Given the description of an element on the screen output the (x, y) to click on. 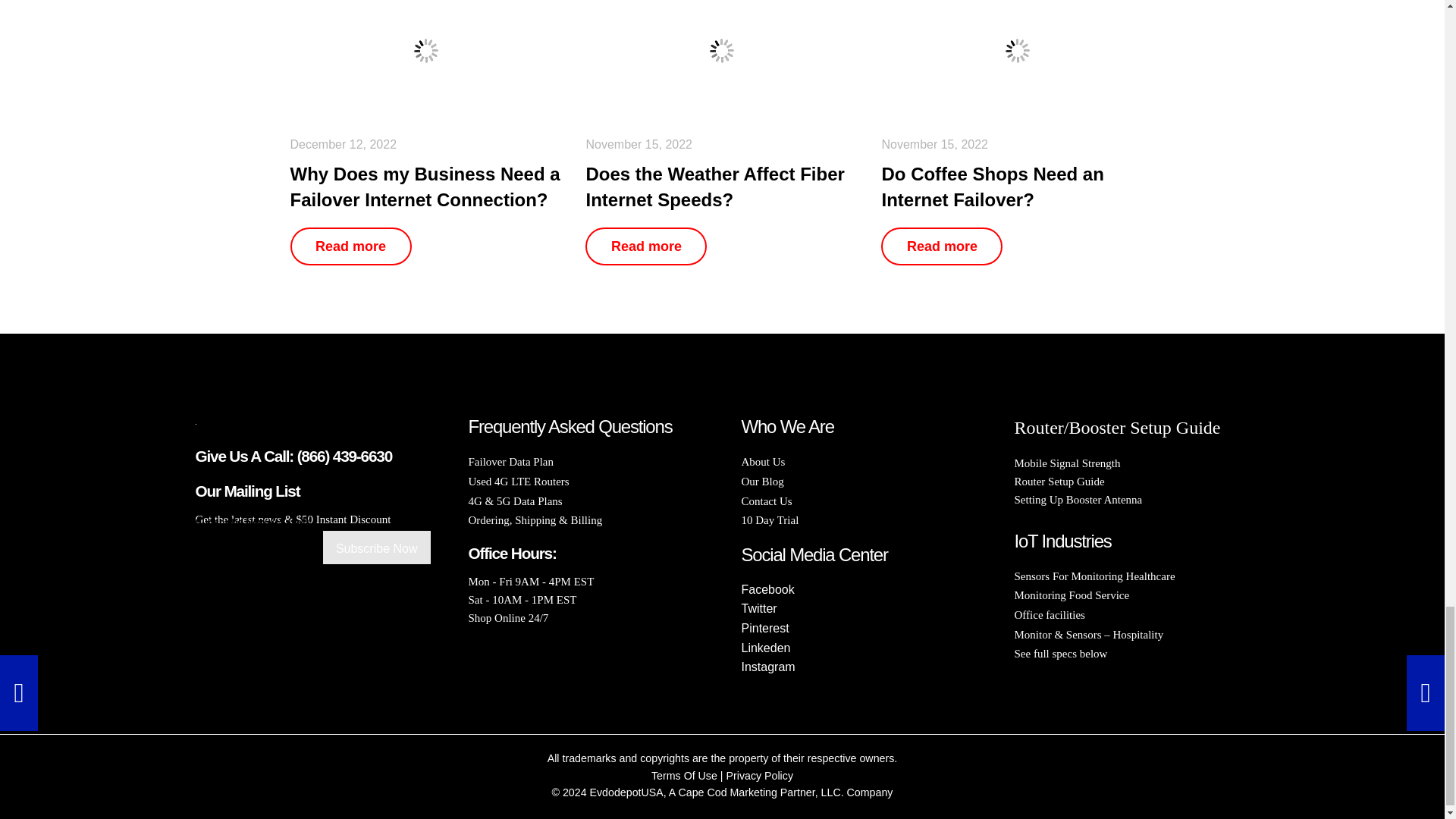
Why Does my Business Need a Failover Internet Connection? (425, 49)
Does the Weather Affect Fiber Internet Speeds? (722, 49)
Do Coffee Shops Need an Internet Failover? (1017, 49)
